Given the description of an element on the screen output the (x, y) to click on. 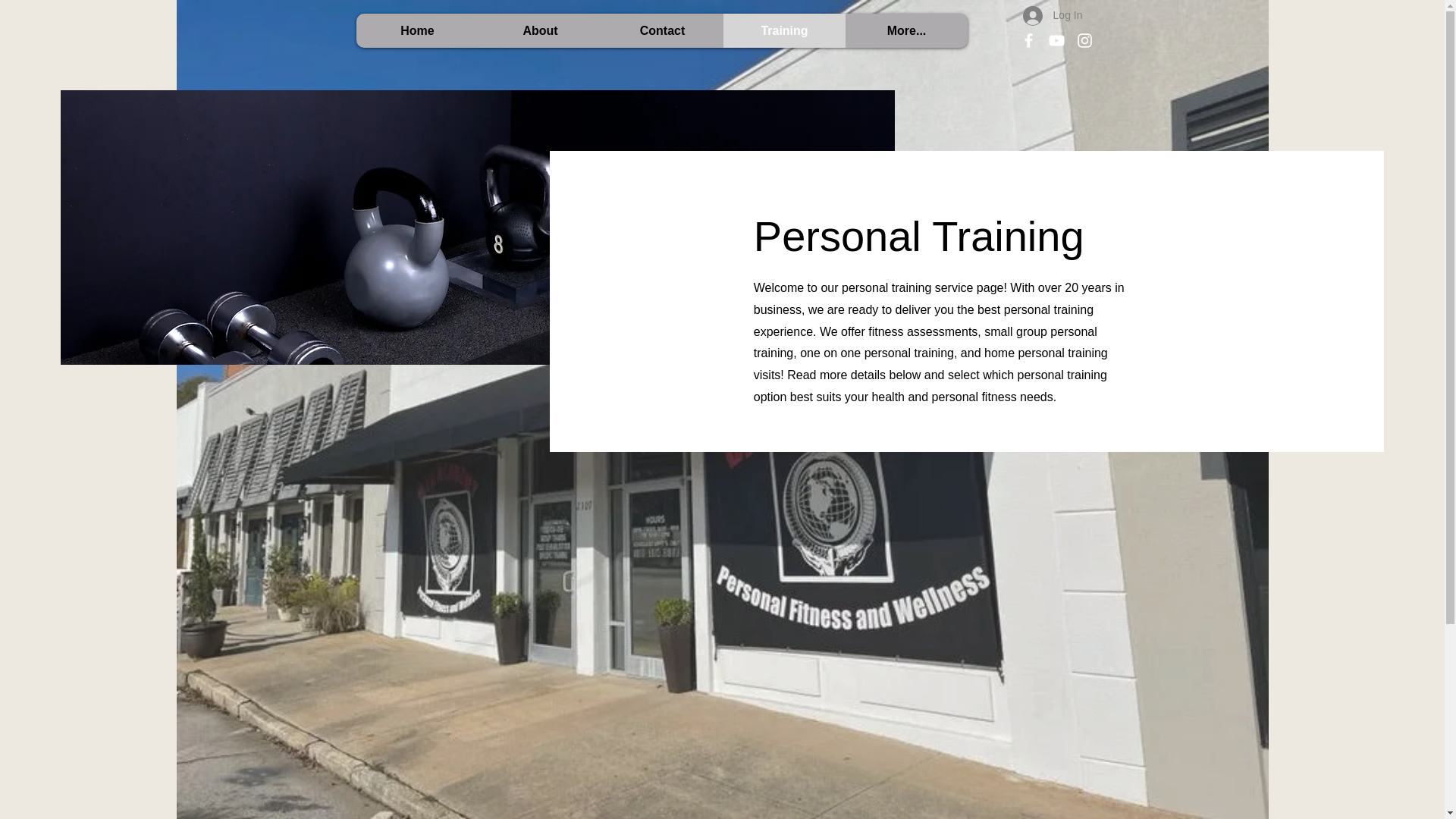
Home (417, 30)
About (540, 30)
Contact (660, 30)
Log In (1052, 15)
Training (784, 30)
